Given the description of an element on the screen output the (x, y) to click on. 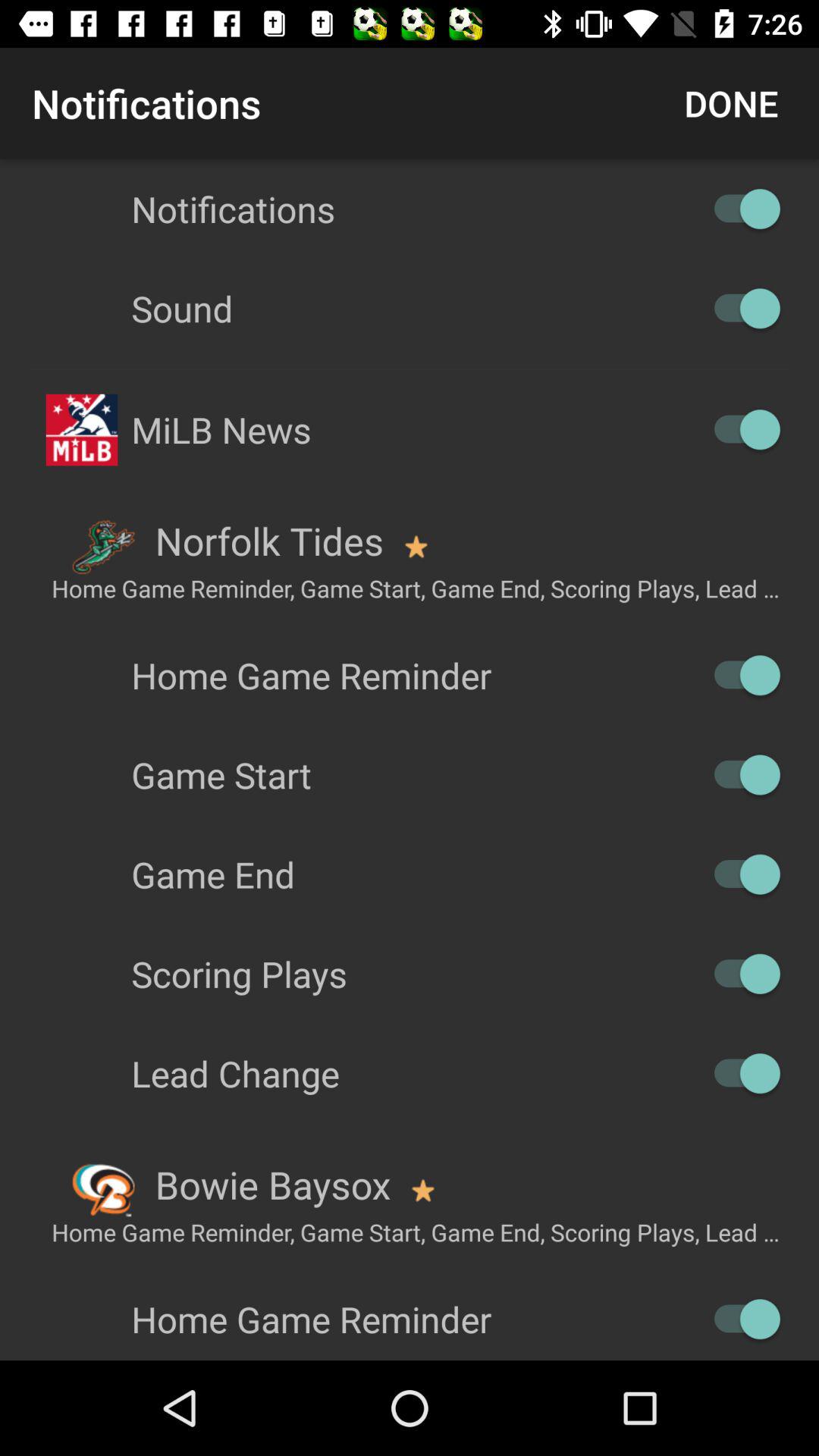
select the item next to the notifications app (731, 103)
